Given the description of an element on the screen output the (x, y) to click on. 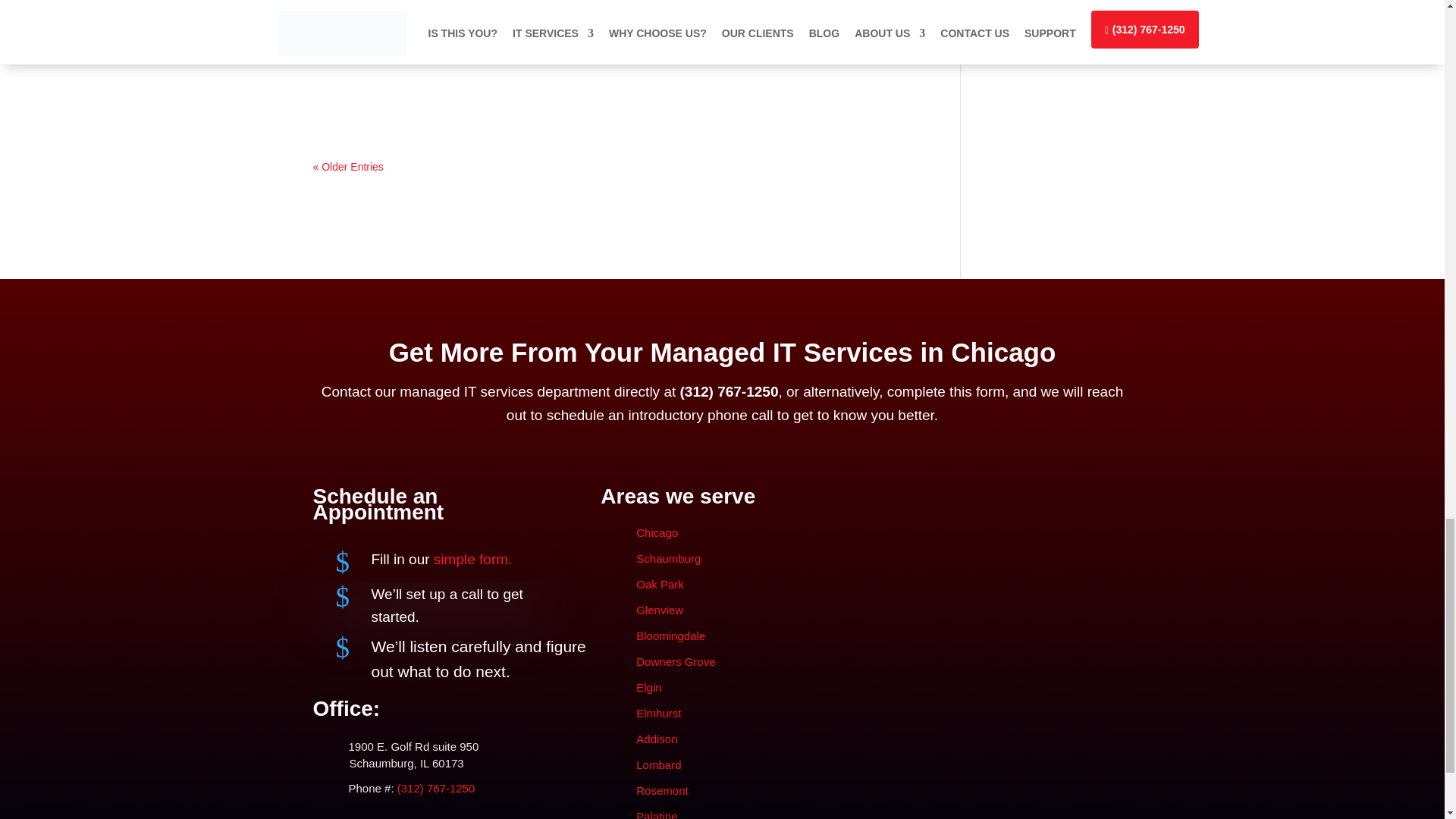
3127671250 (731, 391)
